Given the description of an element on the screen output the (x, y) to click on. 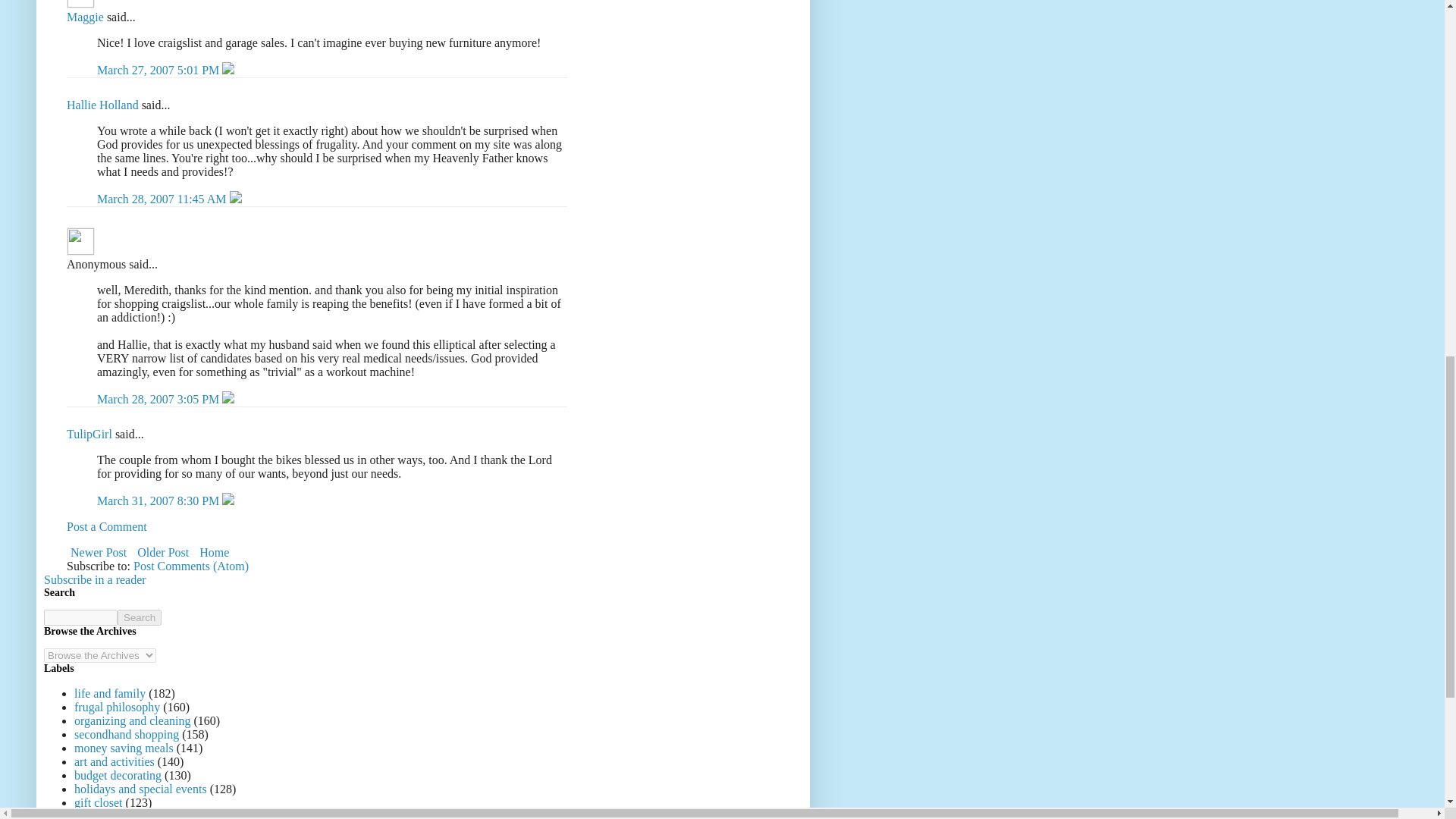
Maggie (80, 4)
comment permalink (159, 399)
March 28, 2007 11:45 AM (163, 198)
March 31, 2007 8:30 PM (159, 500)
Post a Comment (106, 526)
Anonymous (80, 241)
Delete Comment (228, 500)
comment permalink (159, 500)
comment permalink (163, 198)
Search (139, 617)
Search (139, 617)
TulipGirl (89, 433)
Delete Comment (228, 69)
Home (213, 552)
Newer Post (98, 552)
